Given the description of an element on the screen output the (x, y) to click on. 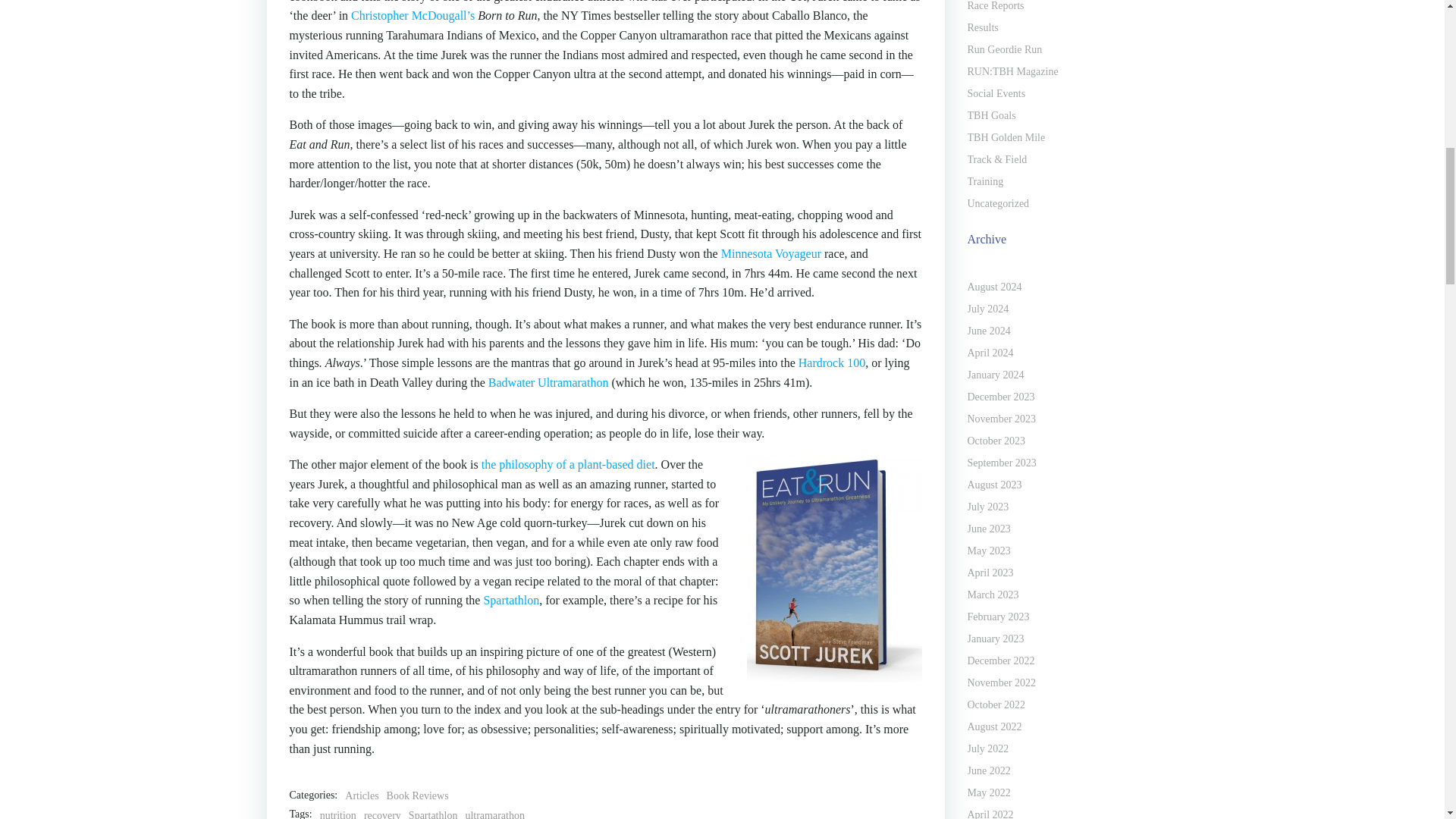
ultramarathon Tag (494, 813)
Spartathlon Tag (433, 813)
Born to Run (412, 15)
Bad Water (547, 382)
recovery Tag (382, 813)
nutrition Tag (338, 813)
Plant-Based Diet (568, 463)
Hardrock 100 (830, 362)
Minnesota Voyageur (770, 253)
Spartathlon (510, 599)
